Given the description of an element on the screen output the (x, y) to click on. 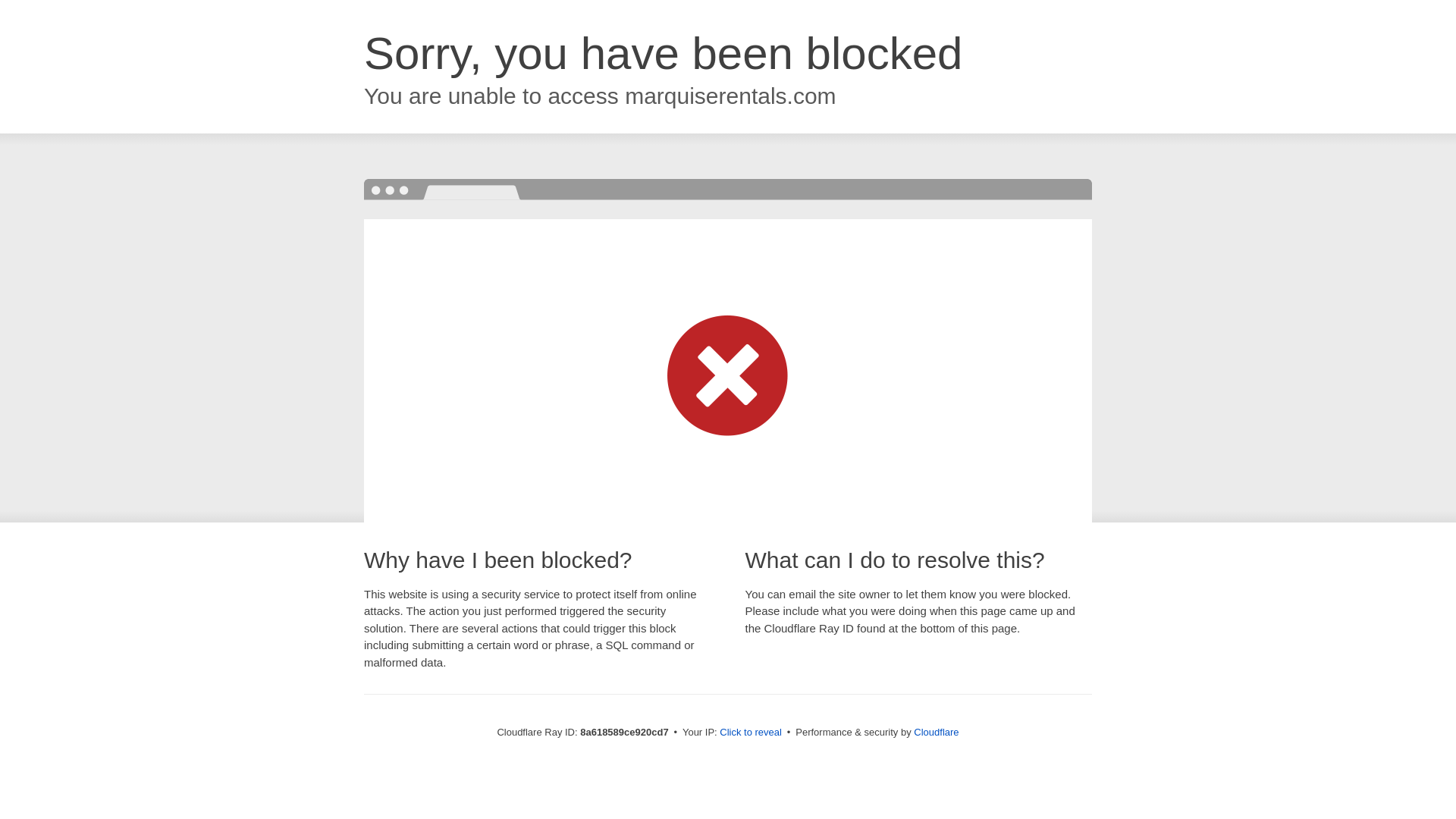
Cloudflare (936, 731)
Click to reveal (750, 732)
